Given the description of an element on the screen output the (x, y) to click on. 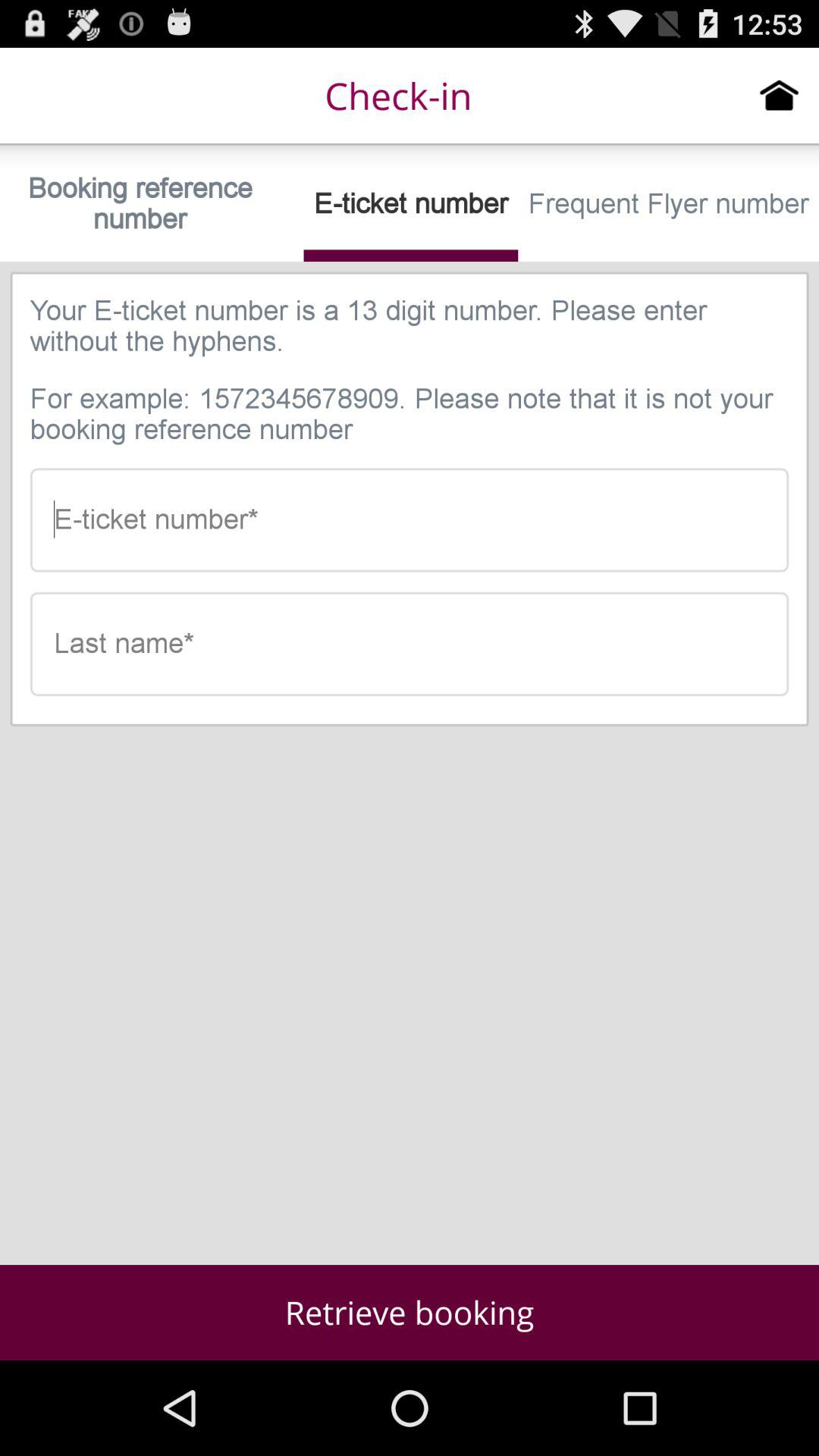
open the frequent flyer number icon (668, 203)
